Given the description of an element on the screen output the (x, y) to click on. 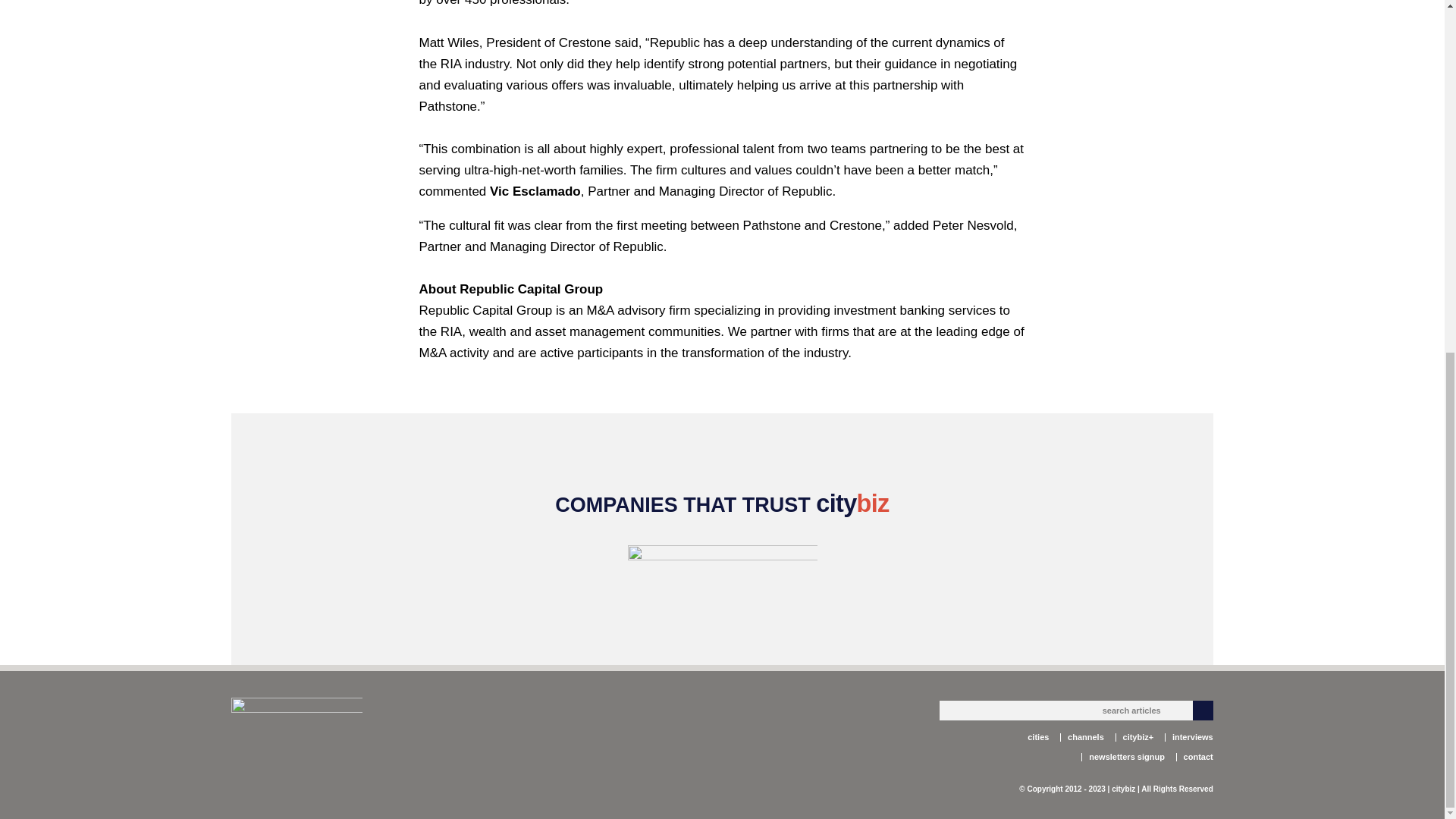
Search (1202, 710)
The Dozier Company (721, 566)
Search (1202, 710)
